Given the description of an element on the screen output the (x, y) to click on. 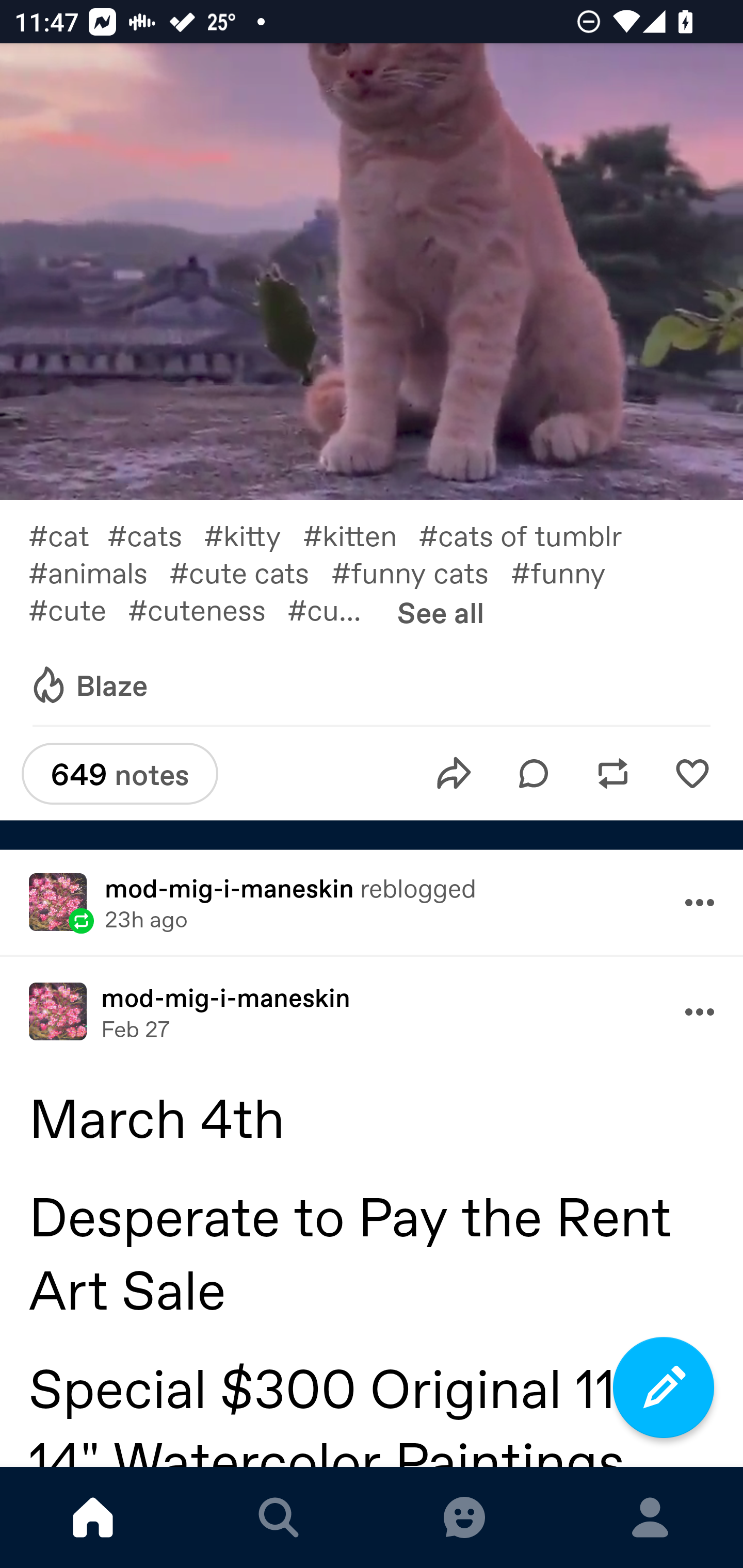
Double tap to show fullscreen (371, 271)
#cat (67, 534)
#cats (154, 534)
#kitty (253, 534)
#kitten (360, 534)
#cats of tumblr (531, 534)
#animals (98, 572)
#cute cats (250, 572)
#funny cats (421, 572)
#funny (569, 572)
#cute (77, 609)
#cuteness (207, 609)
#cu… (334, 609)
See all (440, 612)
Blaze Blaze Blaze (88, 685)
Share post to message (454, 772)
Reply (533, 772)
Reblog (612, 772)
Like (691, 772)
649 notes (119, 773)
Compose a new post (663, 1387)
DASHBOARD (92, 1517)
EXPLORE (278, 1517)
MESSAGES (464, 1517)
ACCOUNT (650, 1517)
